Given the description of an element on the screen output the (x, y) to click on. 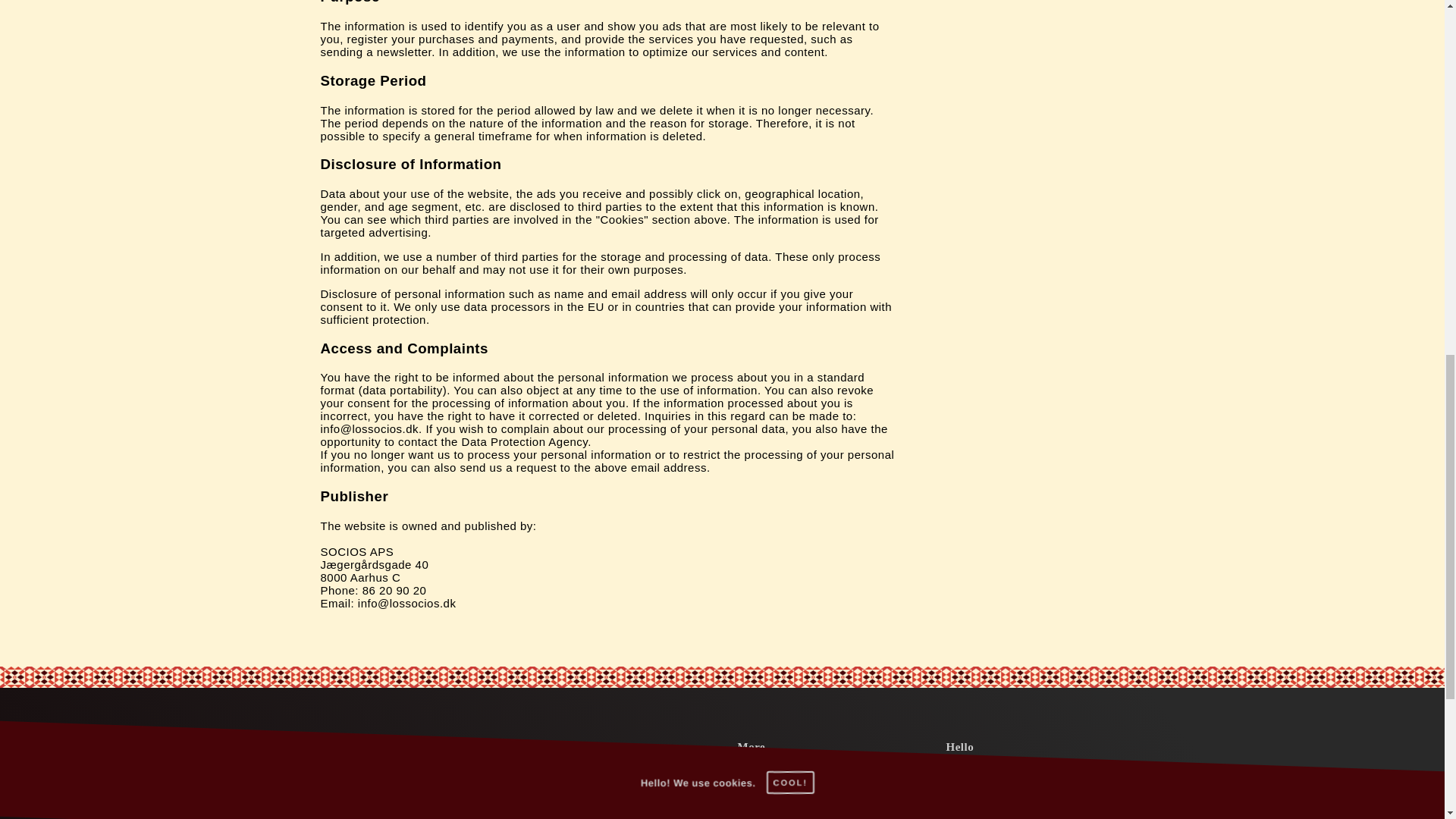
Opening hours (800, 811)
About Socios (794, 788)
Vi er restaurant Socios (794, 788)
